Given the description of an element on the screen output the (x, y) to click on. 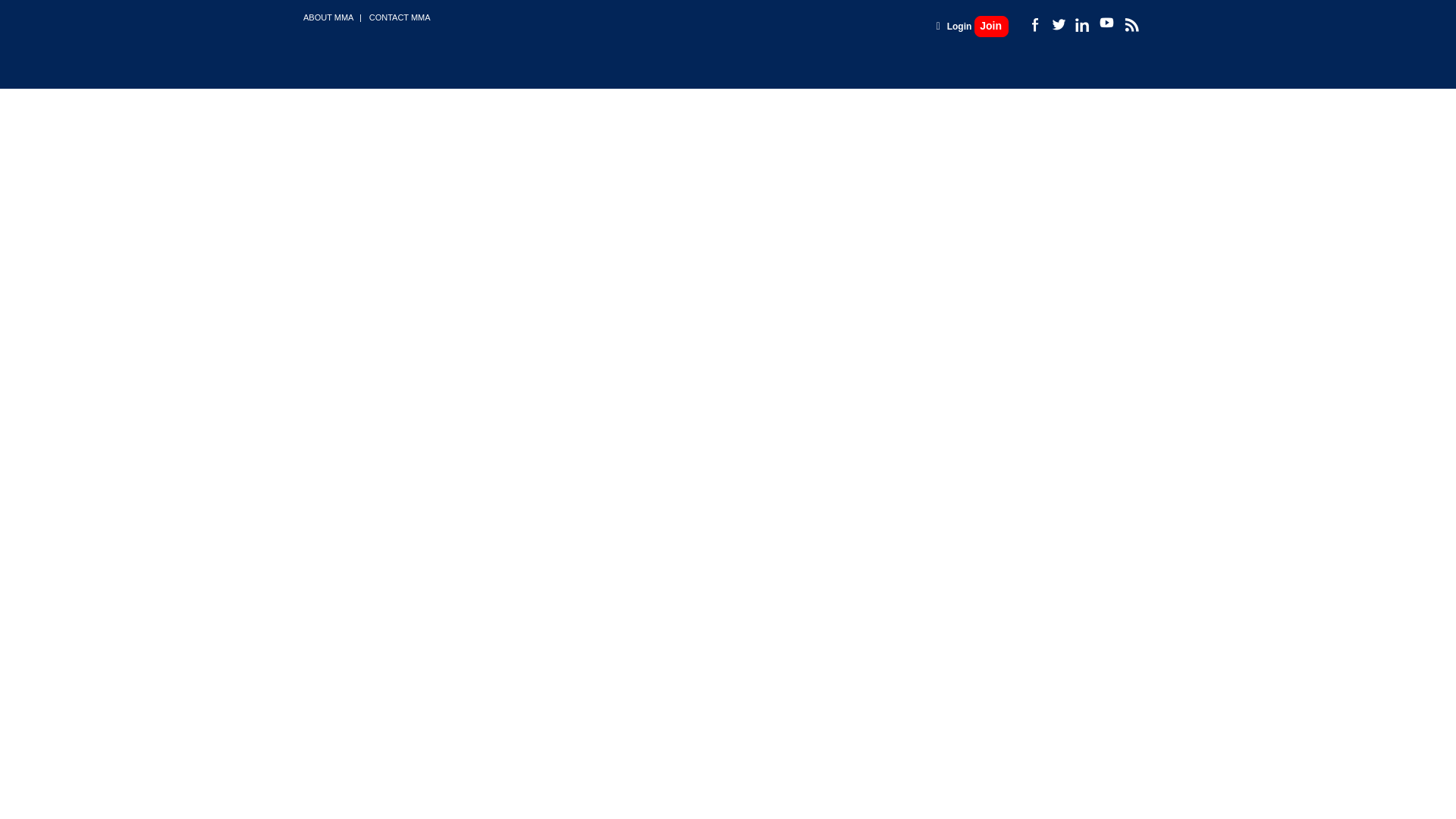
Join (991, 25)
RSS (1130, 23)
YouTube (1105, 22)
Login (959, 26)
LinkedIn (1080, 23)
Facebook (1034, 23)
ABOUT MMA (327, 17)
Twitter (1057, 23)
CONTACT MMA (399, 17)
